Given the description of an element on the screen output the (x, y) to click on. 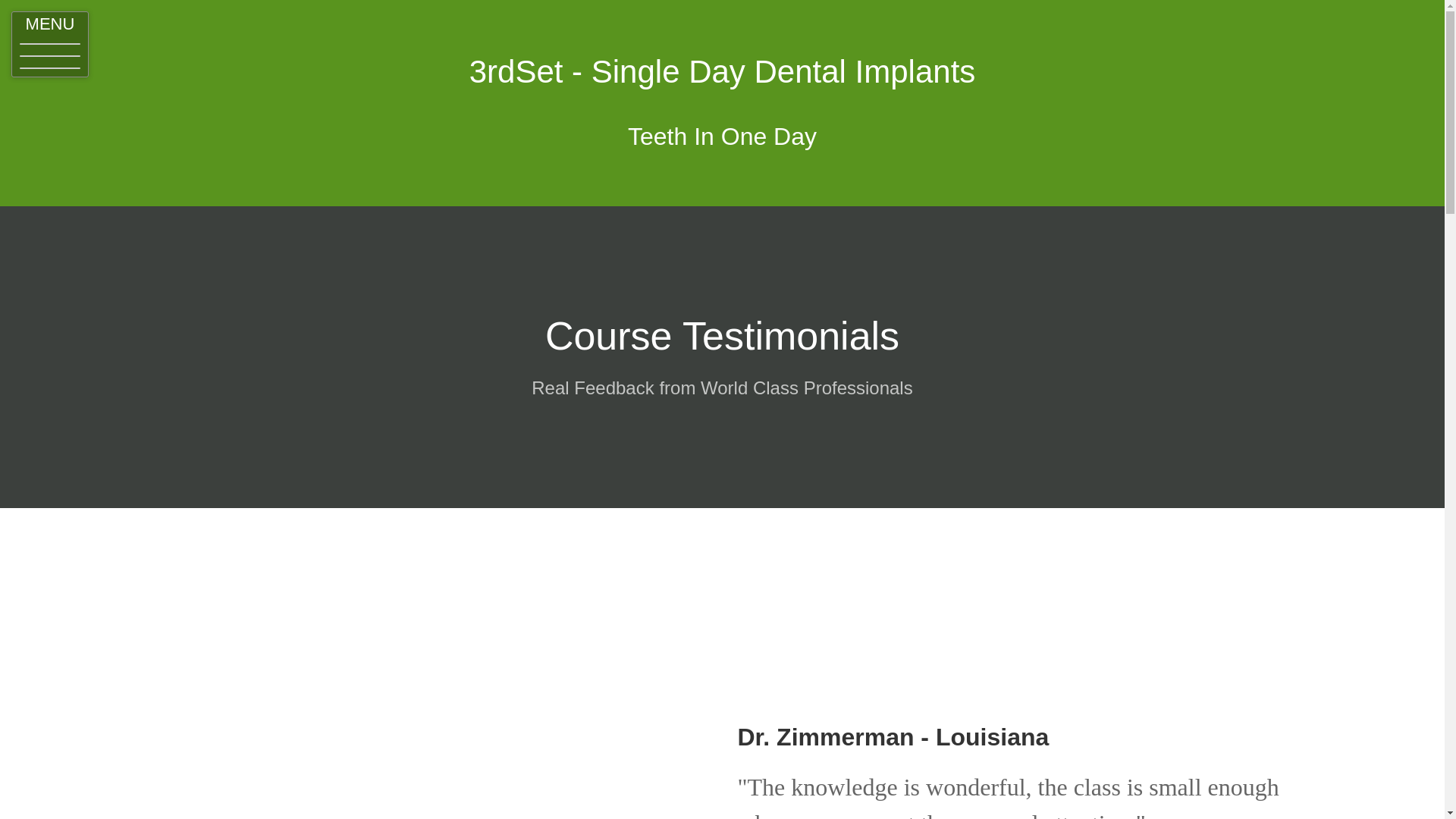
Menu
MENU Element type: text (49, 44)
